Given the description of an element on the screen output the (x, y) to click on. 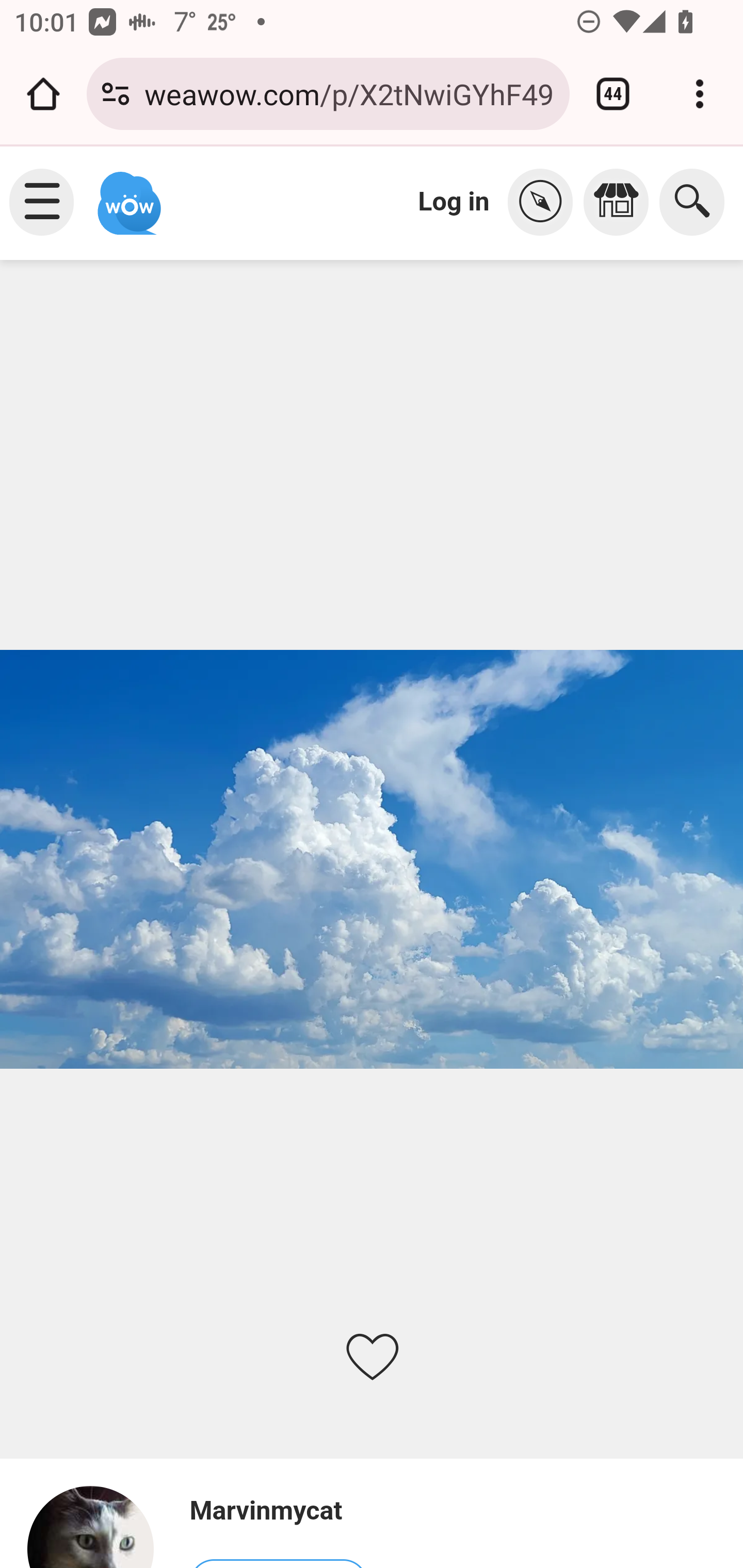
Open the home page (43, 93)
Connection is secure (115, 93)
Switch or close tabs (612, 93)
Customize and control Google Chrome (699, 93)
weawow.com/p/X2tNwiGYhF491809 (349, 92)
Weawow (127, 194)
 (545, 201)
 (621, 201)
Log in (453, 201)
Marvinmycat (99, 1525)
Marvinmycat (277, 1510)
